Given the description of an element on the screen output the (x, y) to click on. 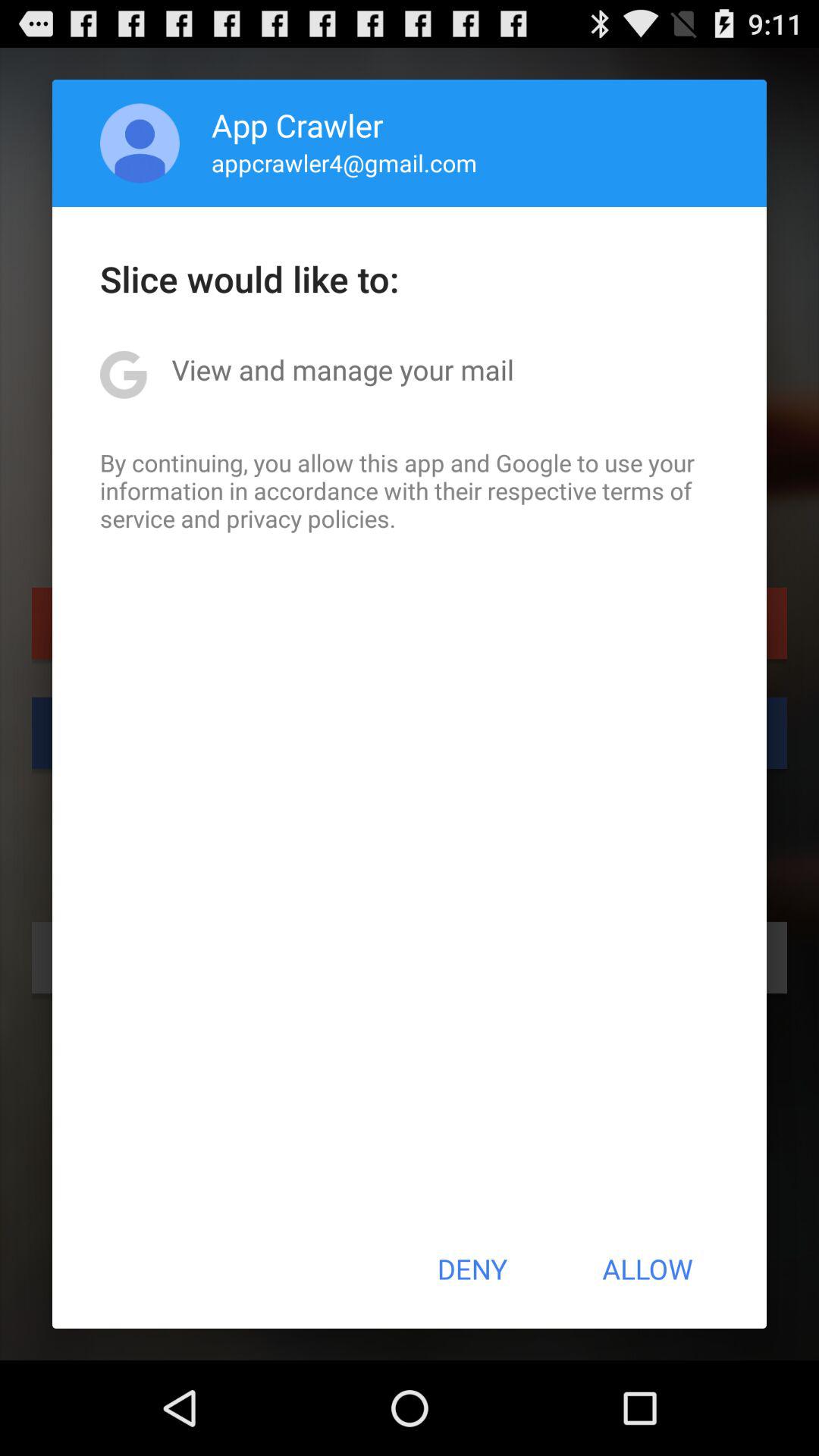
flip until the appcrawler4@gmail.com app (344, 162)
